Given the description of an element on the screen output the (x, y) to click on. 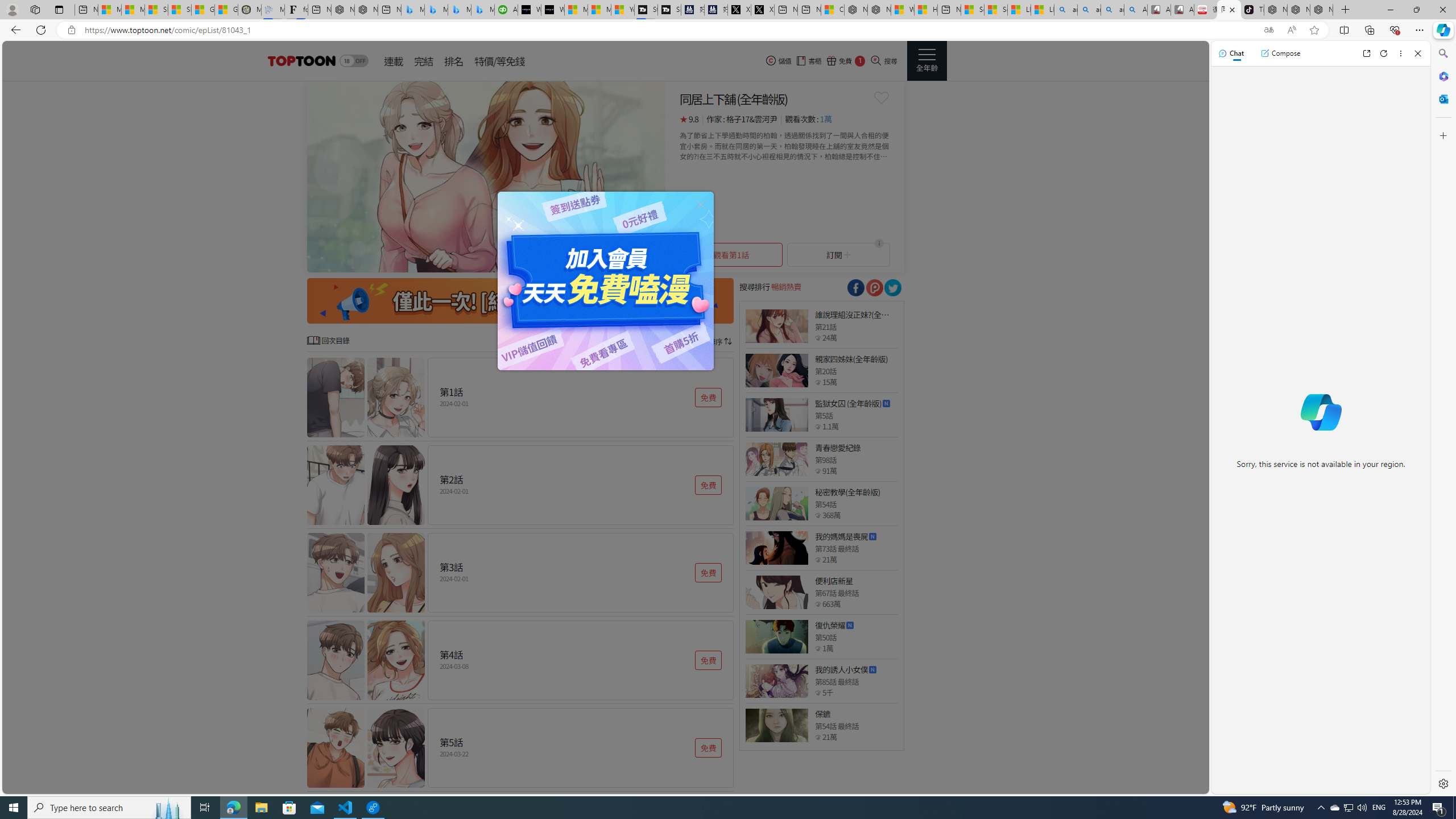
Class: socialShare (892, 287)
Show translate options (1268, 29)
